Given the description of an element on the screen output the (x, y) to click on. 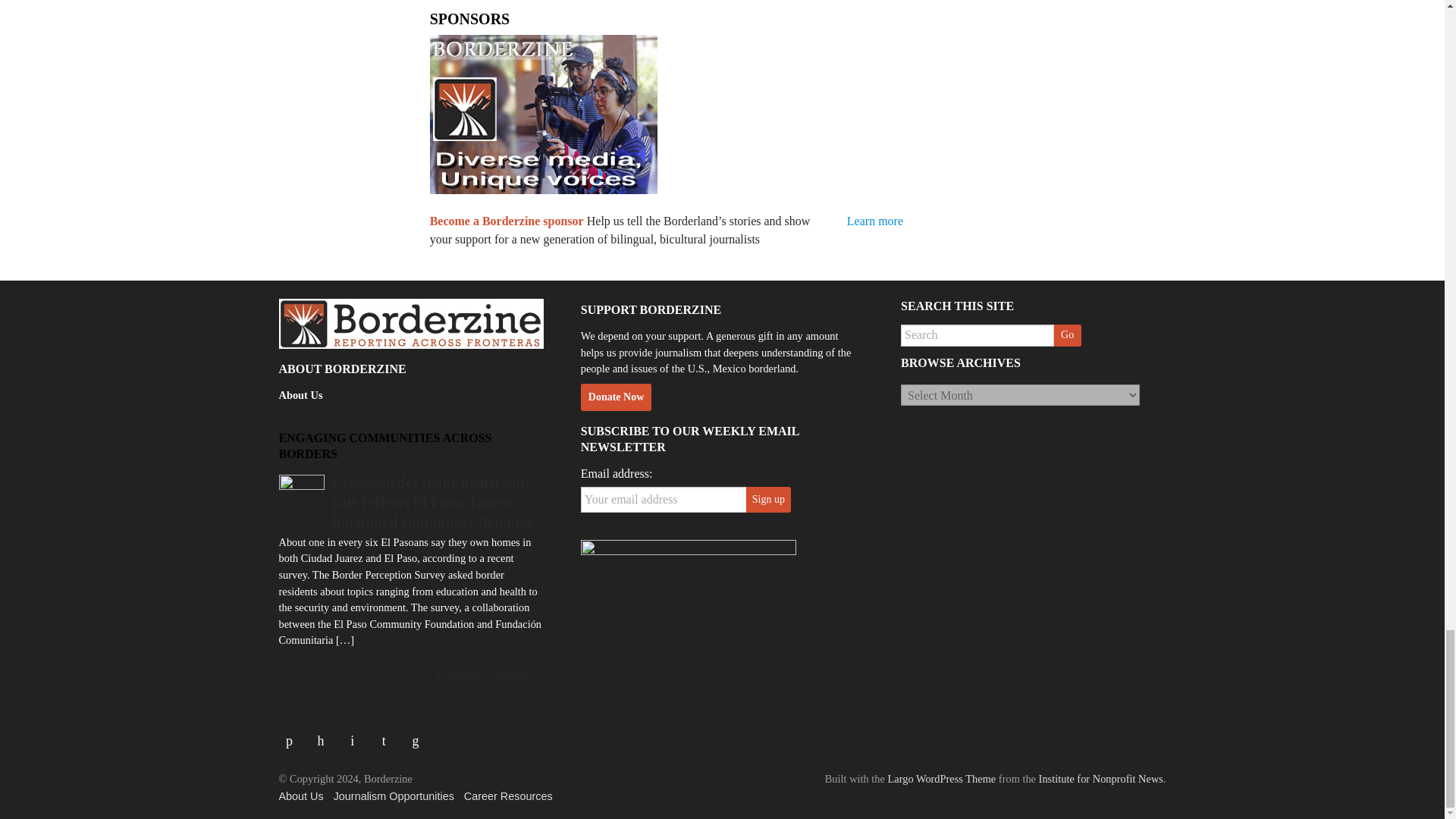
Link to Facebook Profile (295, 734)
Link to Instagram Page (388, 734)
Link to Twitter Page (326, 734)
Sign up (767, 499)
Link to YouTube Page (358, 734)
